Given the description of an element on the screen output the (x, y) to click on. 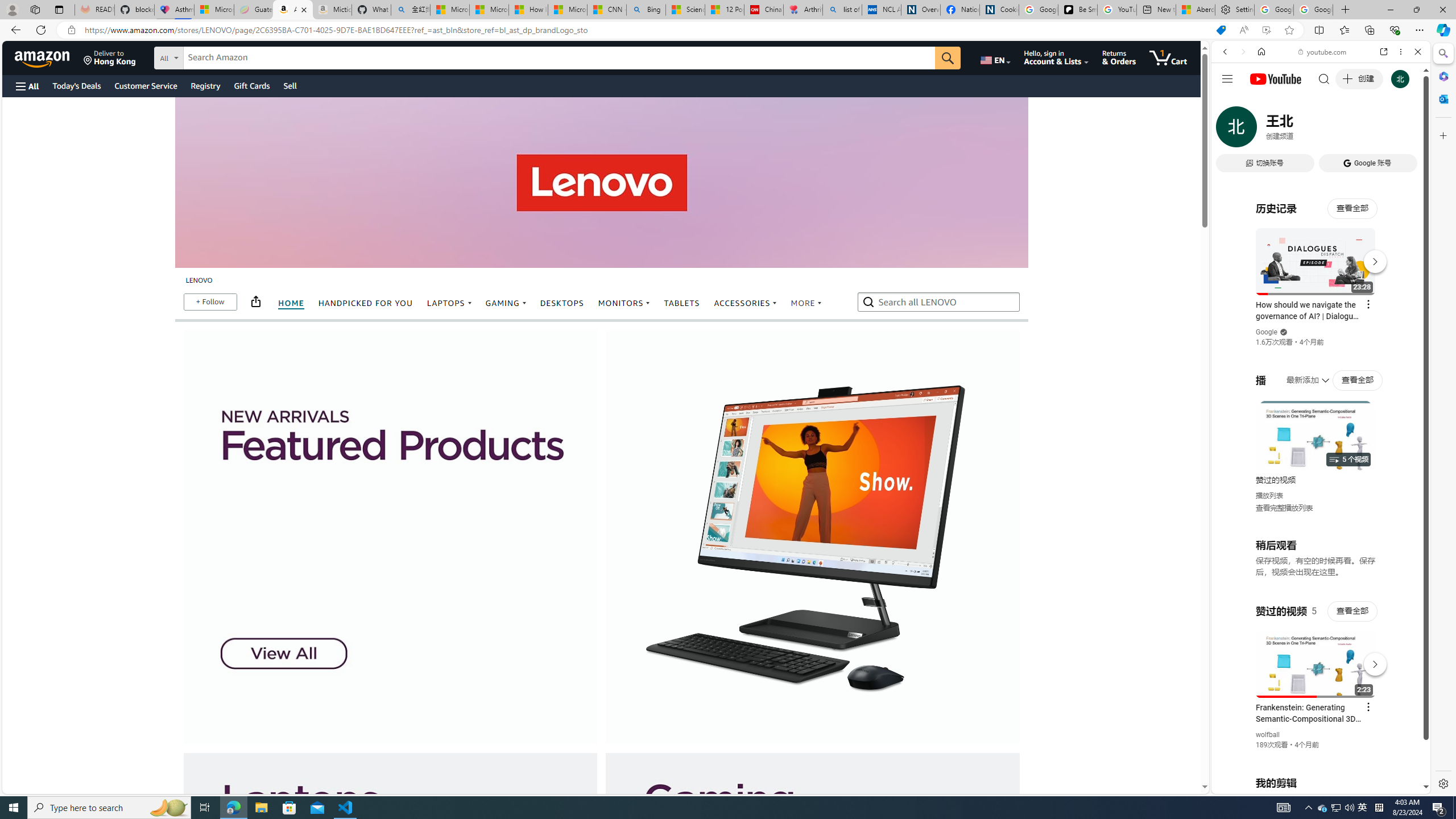
MORE (805, 302)
GAMING (505, 302)
MORE (807, 303)
